Given the description of an element on the screen output the (x, y) to click on. 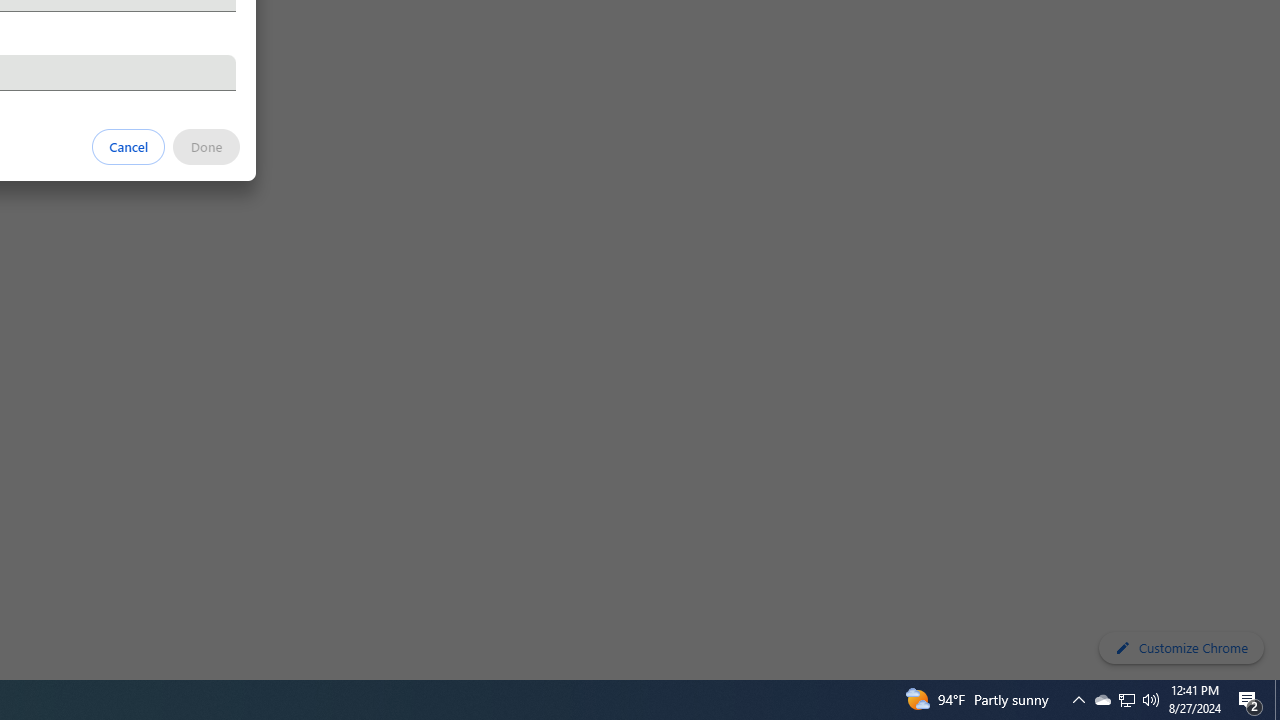
Done (206, 146)
Cancel (129, 146)
